Given the description of an element on the screen output the (x, y) to click on. 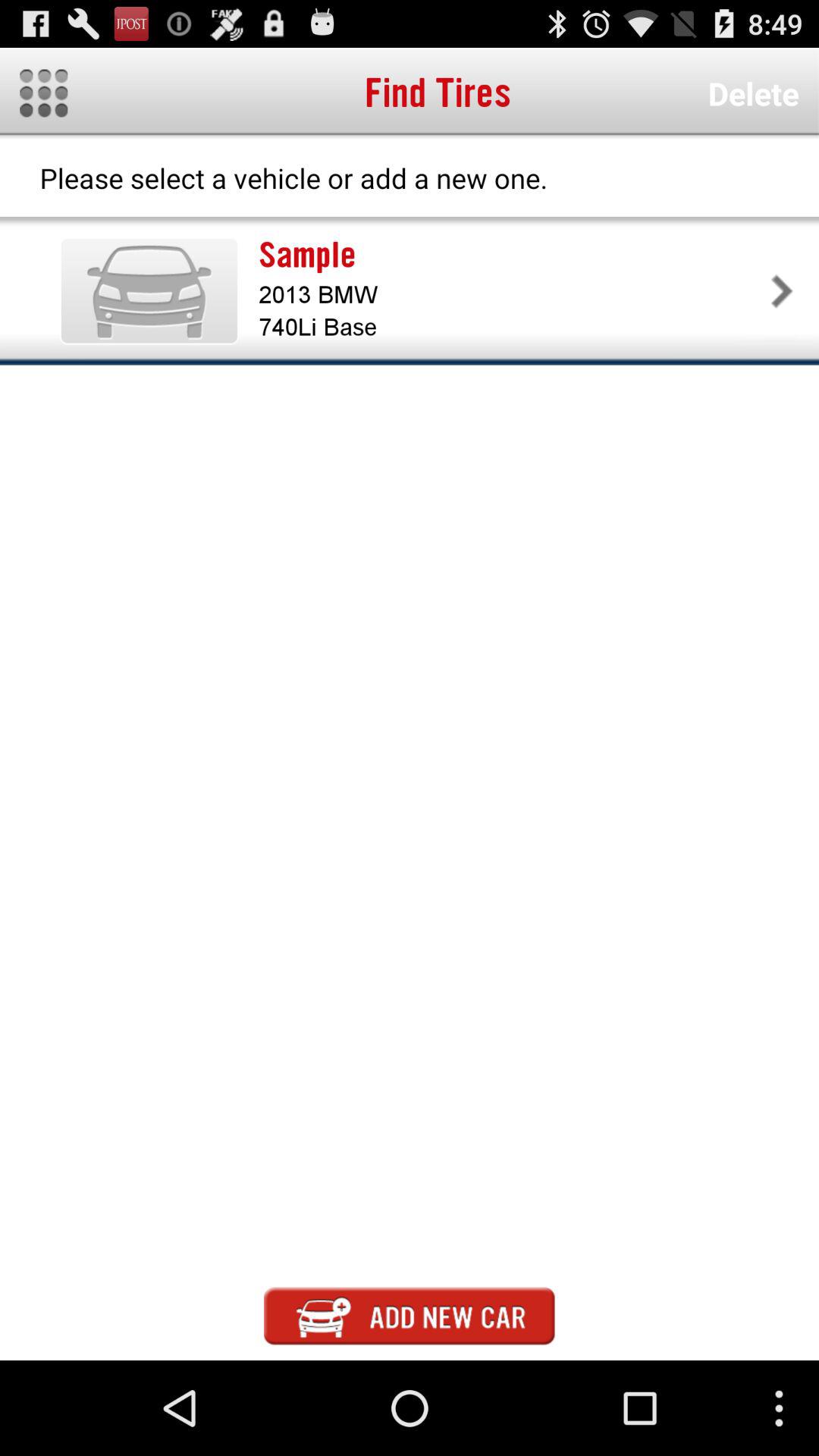
open the sample app (511, 254)
